Given the description of an element on the screen output the (x, y) to click on. 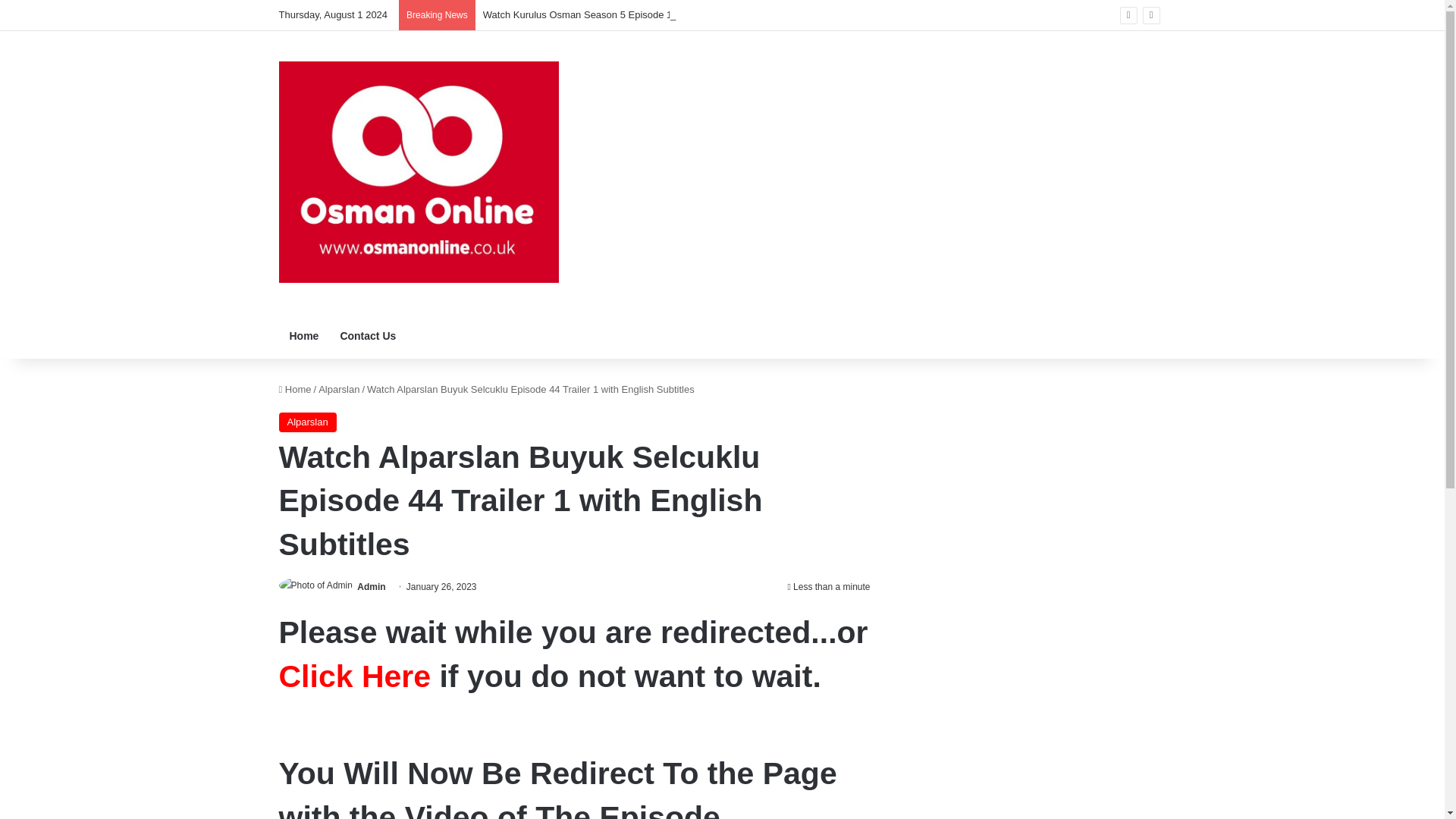
Alparslan (338, 389)
Click Here (354, 675)
Home (304, 335)
Alparslan (307, 422)
Contact Us (367, 335)
Home (295, 389)
Admin (370, 586)
OsmanOnline.co.uk (419, 171)
Admin (370, 586)
